Given the description of an element on the screen output the (x, y) to click on. 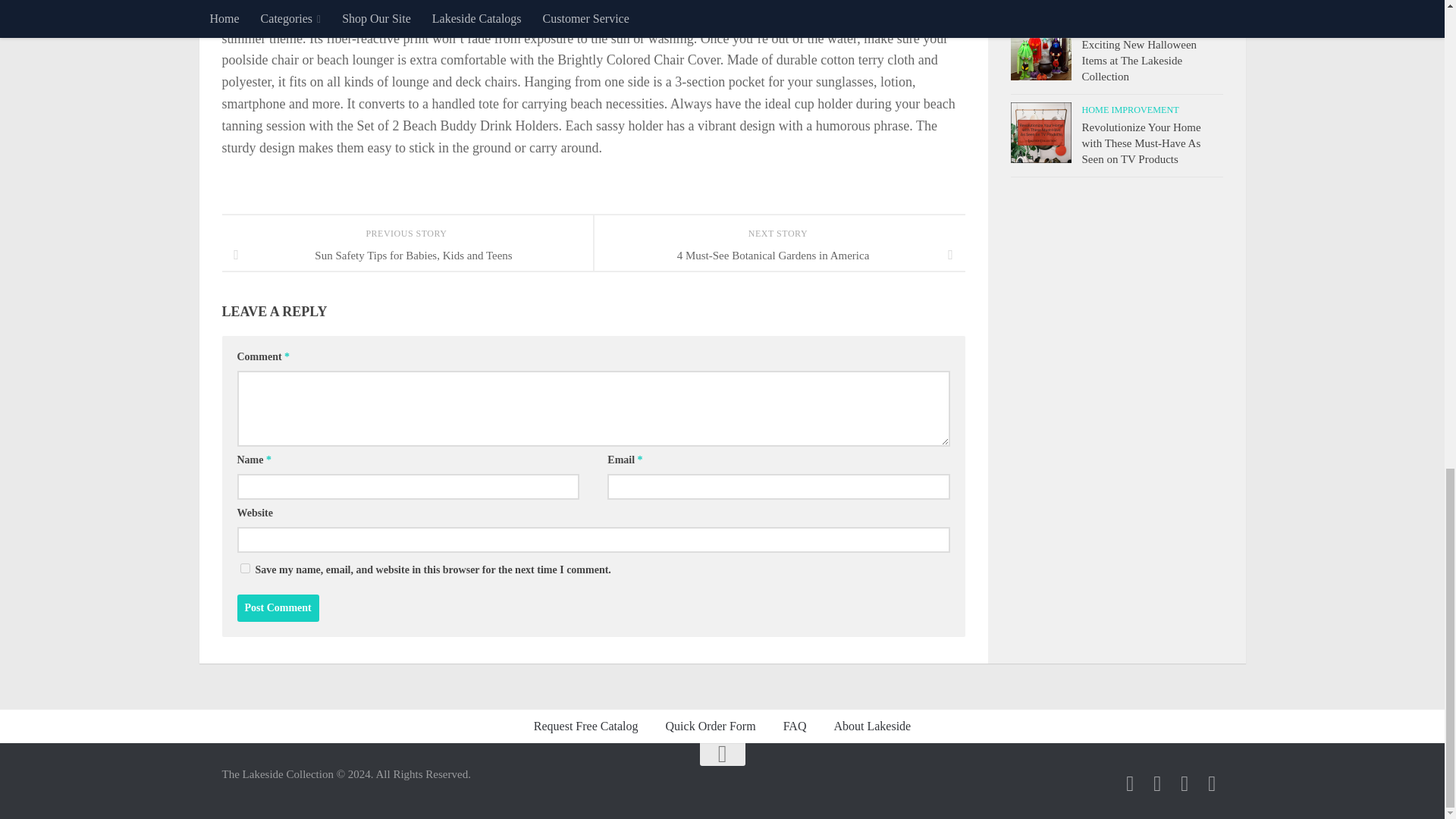
Follow Us On Pinterest (1212, 783)
Post Comment (276, 607)
Follow Us On Instagram (1184, 783)
Follow Us On Facebook (1129, 783)
yes (244, 568)
Follow Us On Twitter (1157, 783)
